Given the description of an element on the screen output the (x, y) to click on. 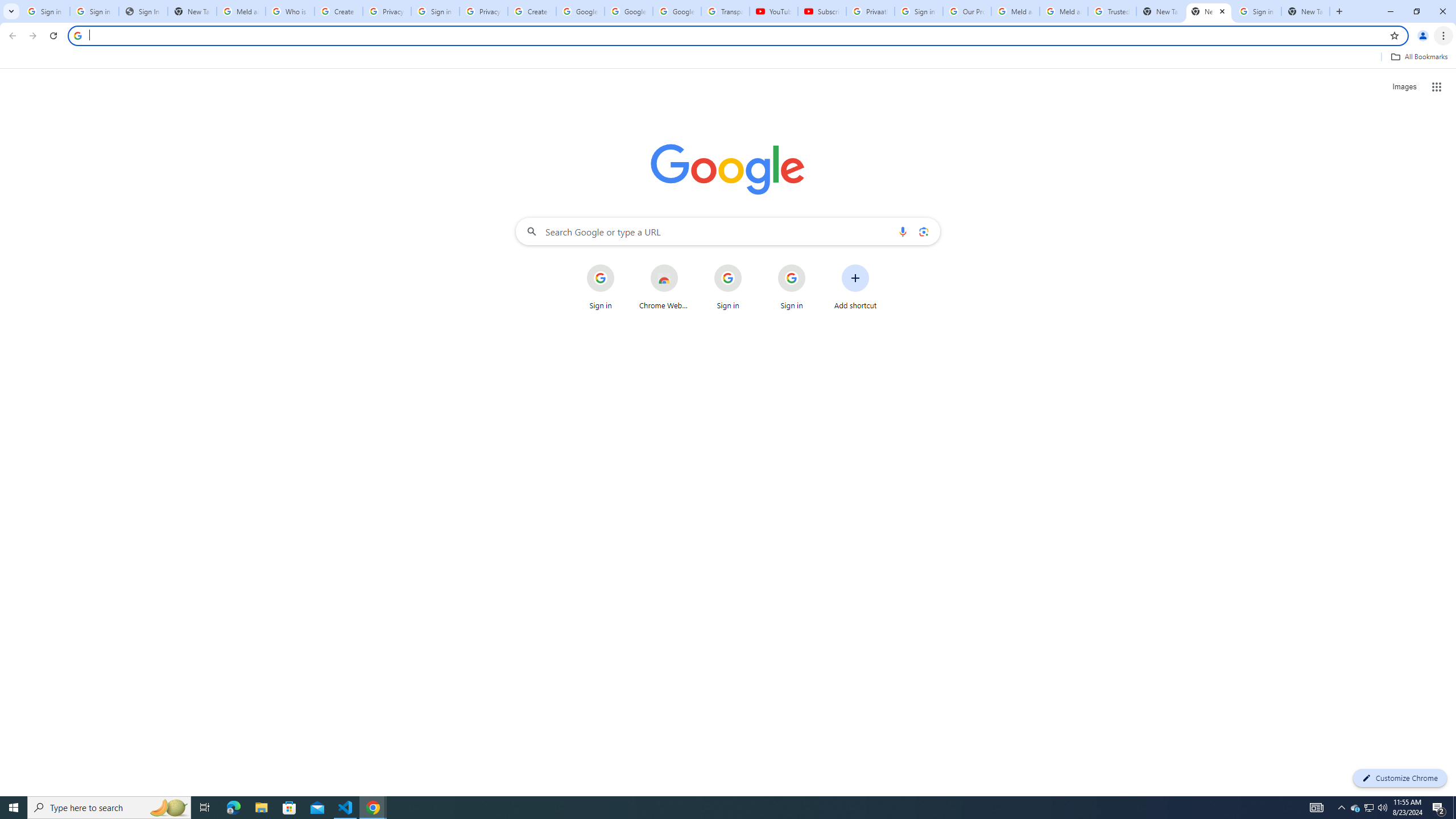
Search for Images  (1403, 87)
Sign in - Google Accounts (94, 11)
Customize Chrome (1399, 778)
Sign In - USA TODAY (143, 11)
More actions for Sign in shortcut (814, 265)
More actions for Chrome Web Store shortcut (686, 265)
Sign in (792, 287)
